Given the description of an element on the screen output the (x, y) to click on. 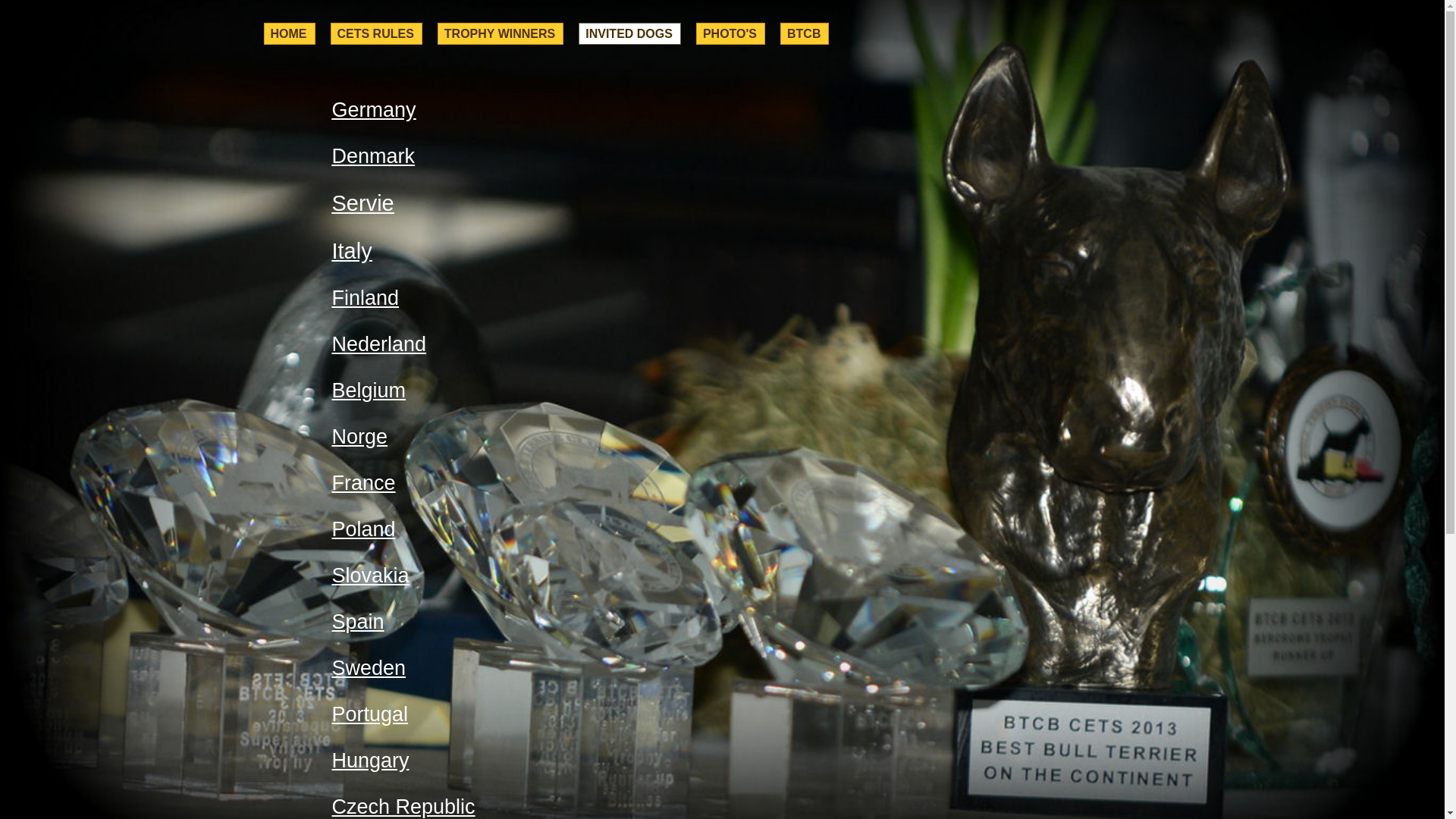
Italy Element type: text (352, 250)
BTCB Element type: text (804, 33)
Sweden Element type: text (369, 667)
Spain Element type: text (358, 621)
HOME Element type: text (289, 33)
Germany Element type: text (374, 109)
PHOTO'S Element type: text (730, 33)
Slovakia Element type: text (370, 575)
Belgium Element type: text (369, 390)
Finland Element type: text (365, 297)
CETS RULES Element type: text (376, 33)
Denmark Element type: text (373, 155)
Servie Element type: text (363, 203)
Portugal Element type: text (370, 713)
Hungary Element type: text (370, 760)
Nederland Element type: text (379, 343)
Poland Element type: text (363, 528)
Norge Element type: text (360, 436)
TROPHY WINNERS Element type: text (500, 33)
Czech Republic Element type: text (403, 806)
INVITED DOGS Element type: text (629, 33)
France Element type: text (363, 482)
